Given the description of an element on the screen output the (x, y) to click on. 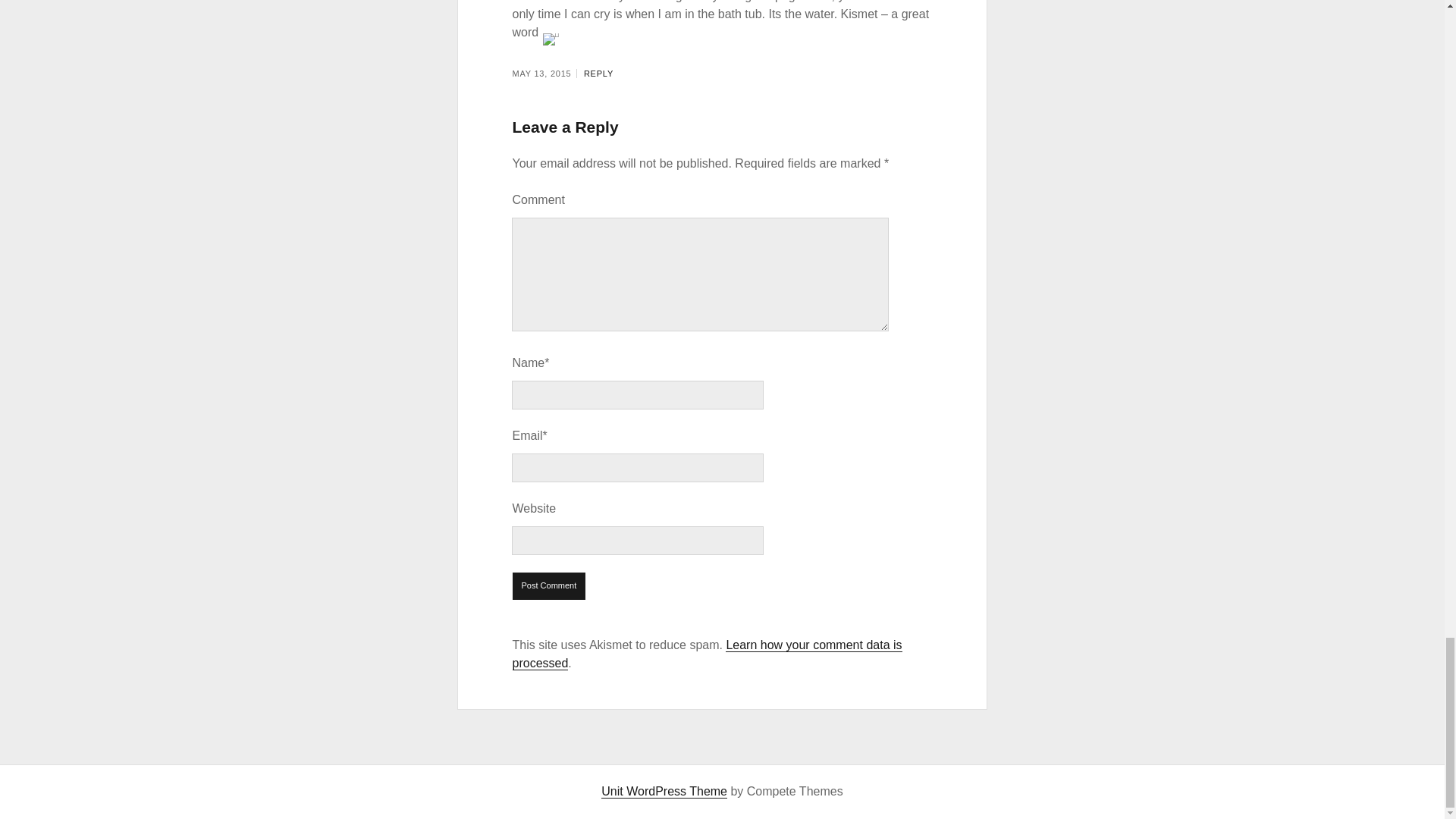
Post Comment (549, 585)
